Given the description of an element on the screen output the (x, y) to click on. 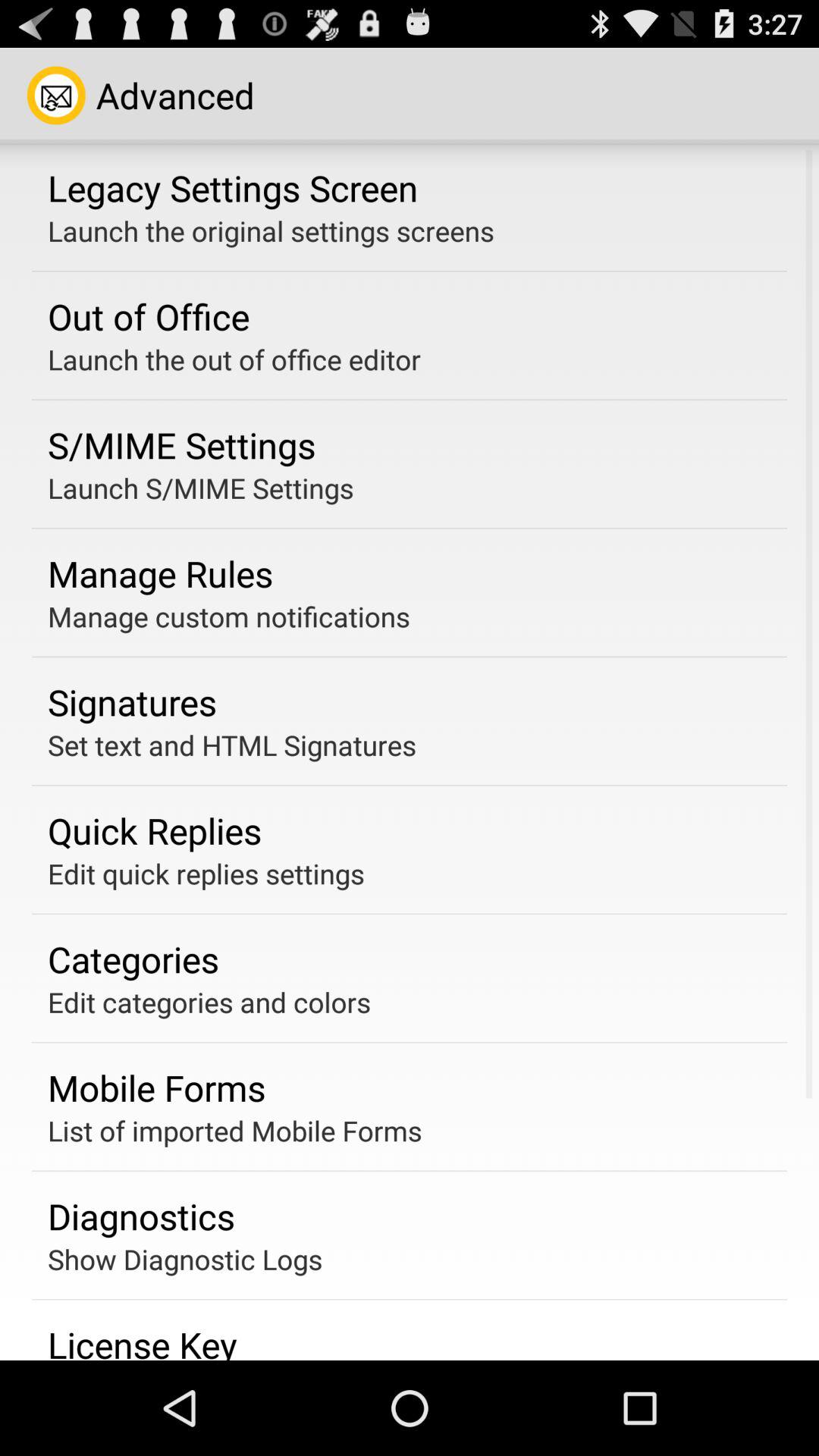
click the edit categories and icon (208, 1001)
